Given the description of an element on the screen output the (x, y) to click on. 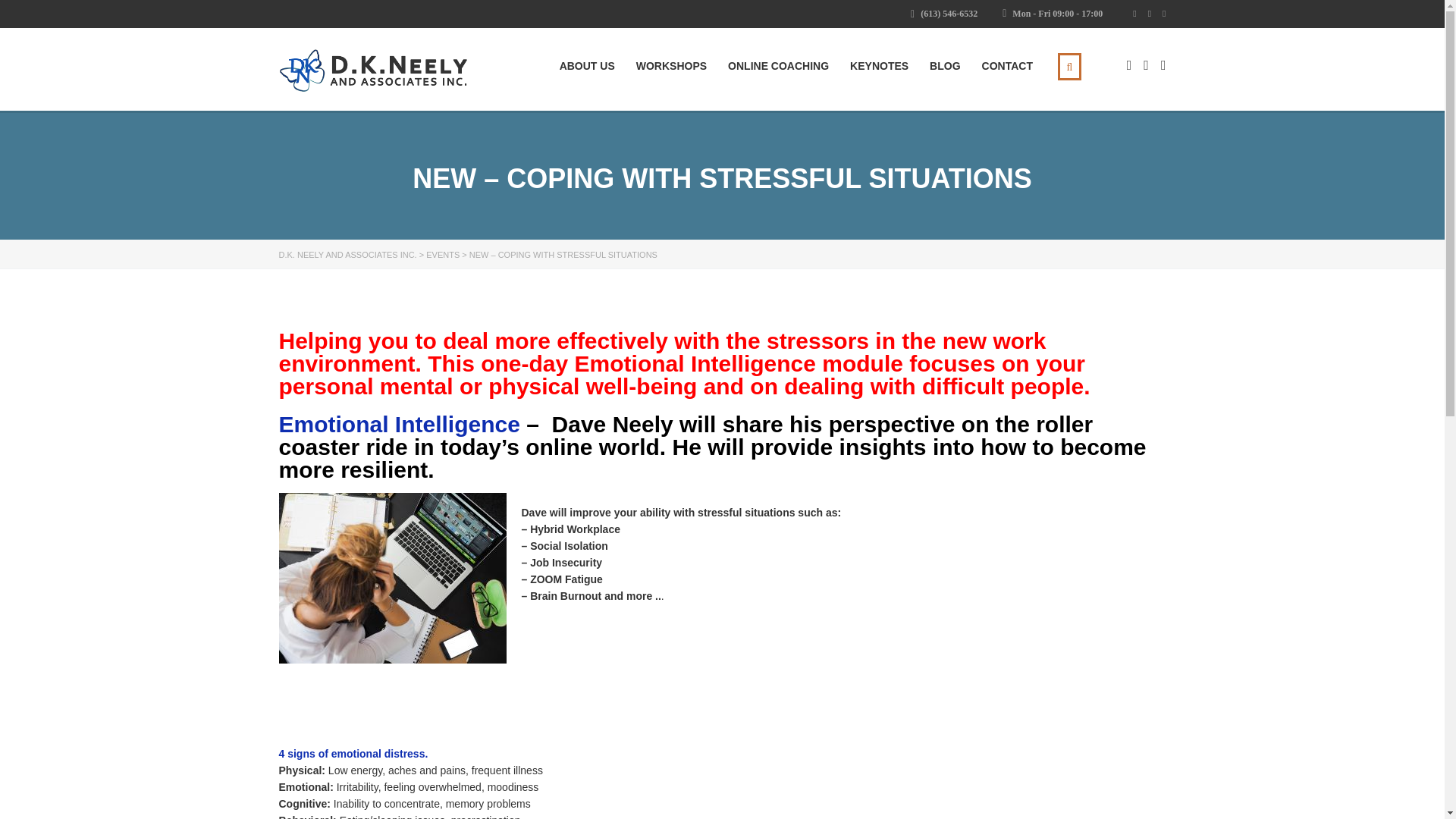
KEYNOTES (879, 65)
Go to Events. (443, 254)
CONTACT (1006, 65)
D.K. NEELY AND ASSOCIATES INC. (347, 254)
EVENTS (443, 254)
ONLINE COACHING (778, 65)
ABOUT US (586, 65)
Go to D.K. Neely and Associates Inc.. (347, 254)
BLOG (944, 65)
WORKSHOPS (671, 65)
